Given the description of an element on the screen output the (x, y) to click on. 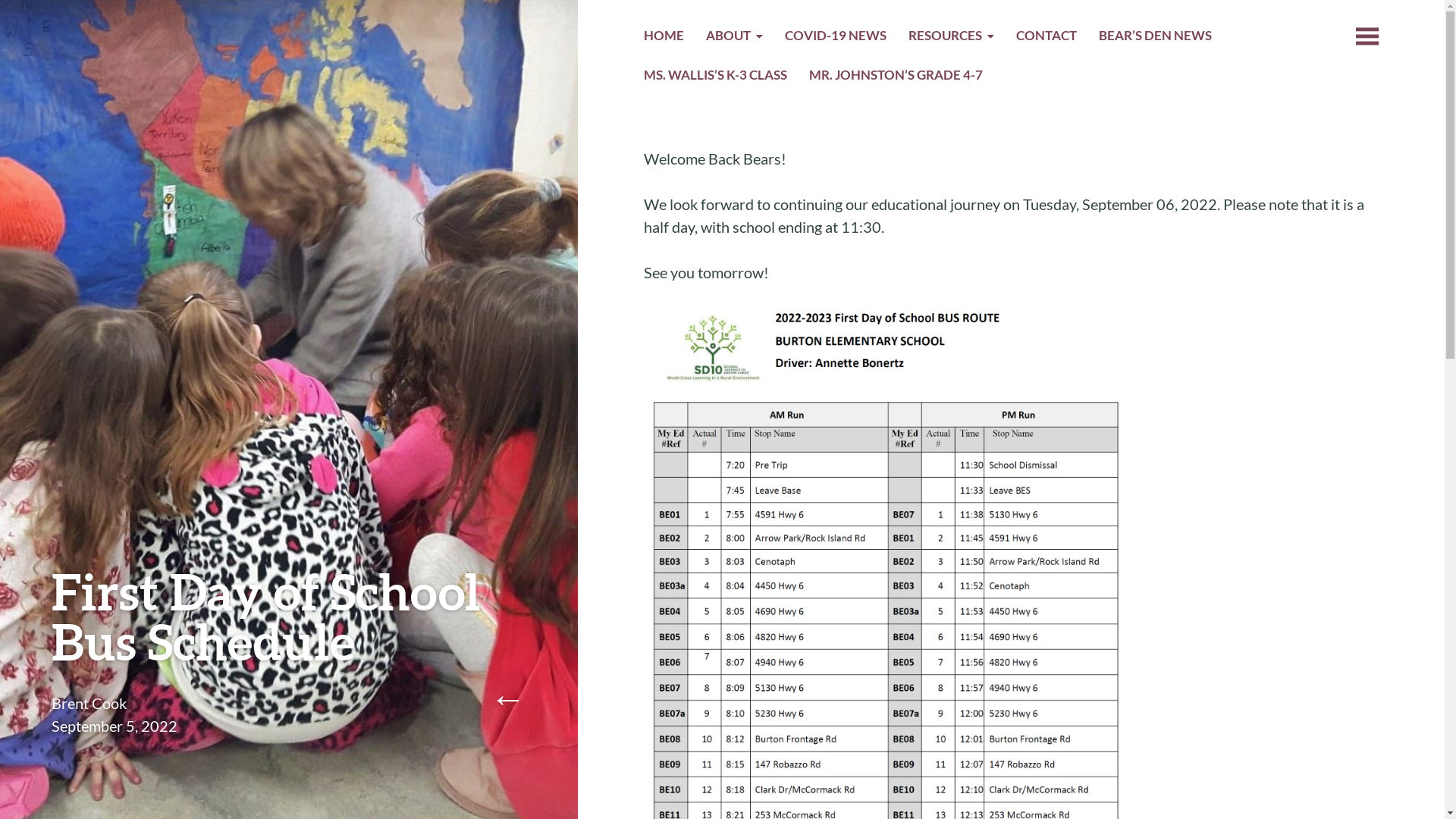
Brent Cook Element type: text (88, 702)
RESOURCES Element type: text (951, 37)
CONTACT Element type: text (1046, 37)
ABOUT Element type: text (734, 37)
HOME Element type: text (663, 37)
September 5, 2022 Element type: text (114, 725)
COVID-19 NEWS Element type: text (835, 37)
